Given the description of an element on the screen output the (x, y) to click on. 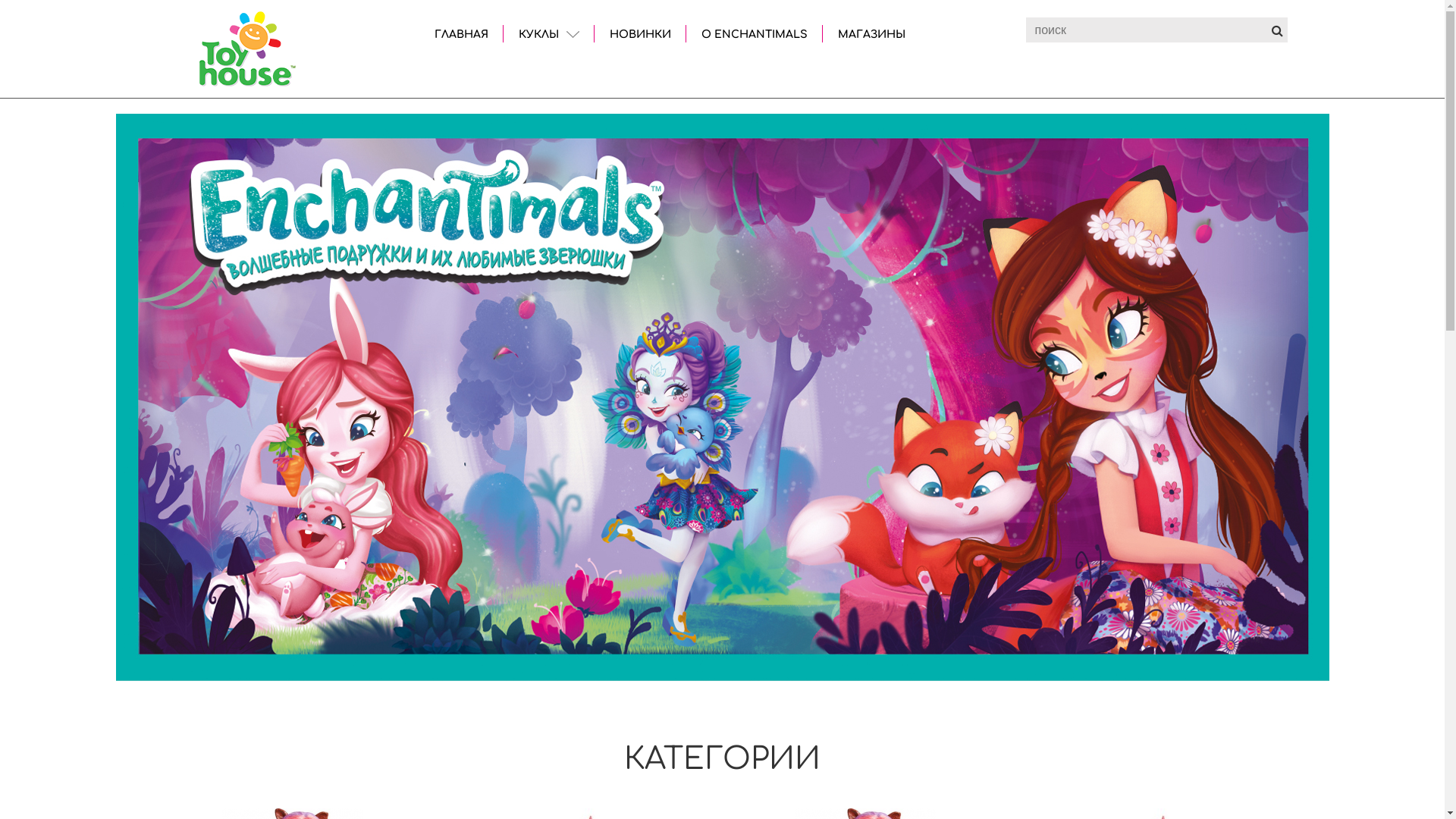
Enchantimals  Element type: hover (246, 48)
